Given the description of an element on the screen output the (x, y) to click on. 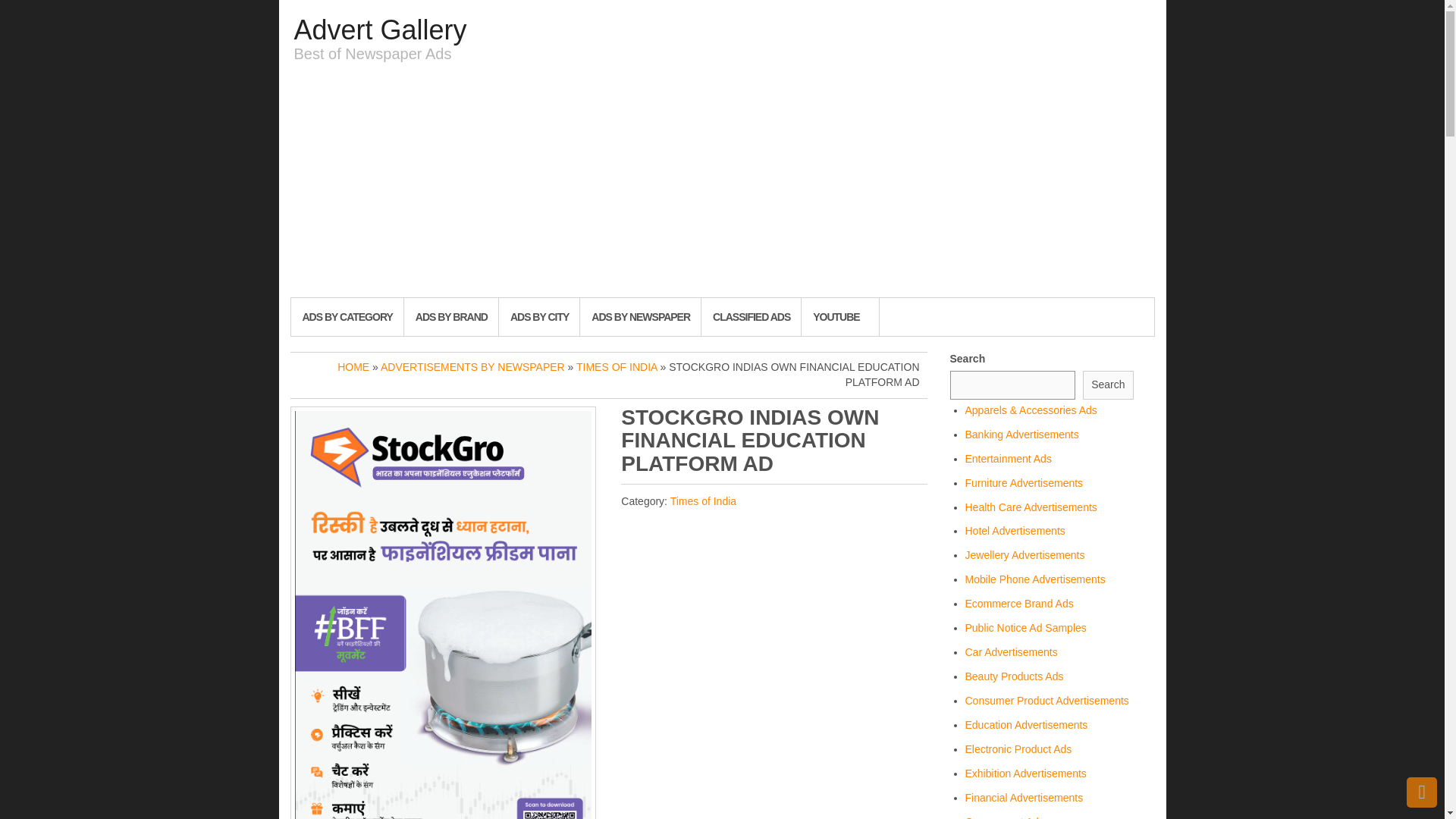
YOUTUBE (838, 316)
Advert Gallery (380, 29)
ADS BY CATEGORY (346, 316)
ADS BY CITY (538, 316)
Classified Ads (751, 316)
TIMES OF INDIA (617, 367)
HOME (353, 367)
Times of India (702, 500)
Ads By City (538, 316)
